Given the description of an element on the screen output the (x, y) to click on. 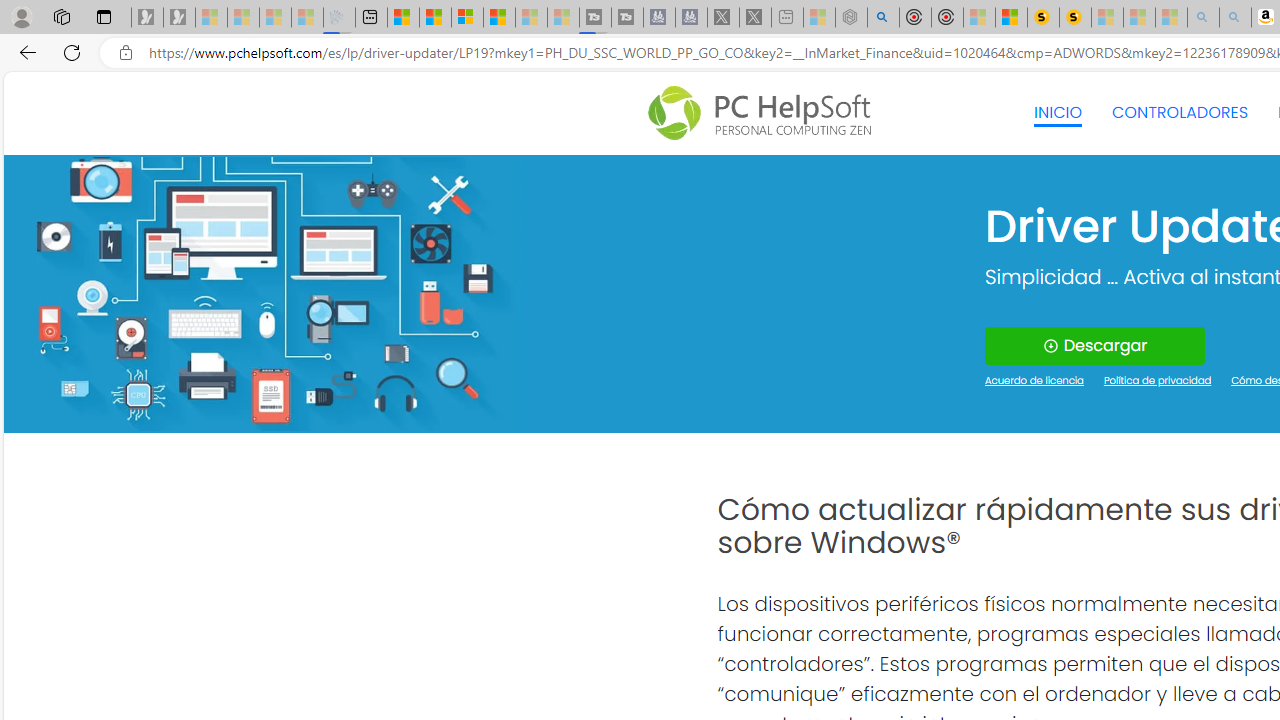
Newsletter Sign Up - Sleeping (178, 17)
Generic (263, 293)
X - Sleeping (754, 17)
Download Icon Descargar (1094, 345)
Wildlife - MSN - Sleeping (818, 17)
CONTROLADORES (1180, 112)
Logo Personal Computing (765, 113)
